Given the description of an element on the screen output the (x, y) to click on. 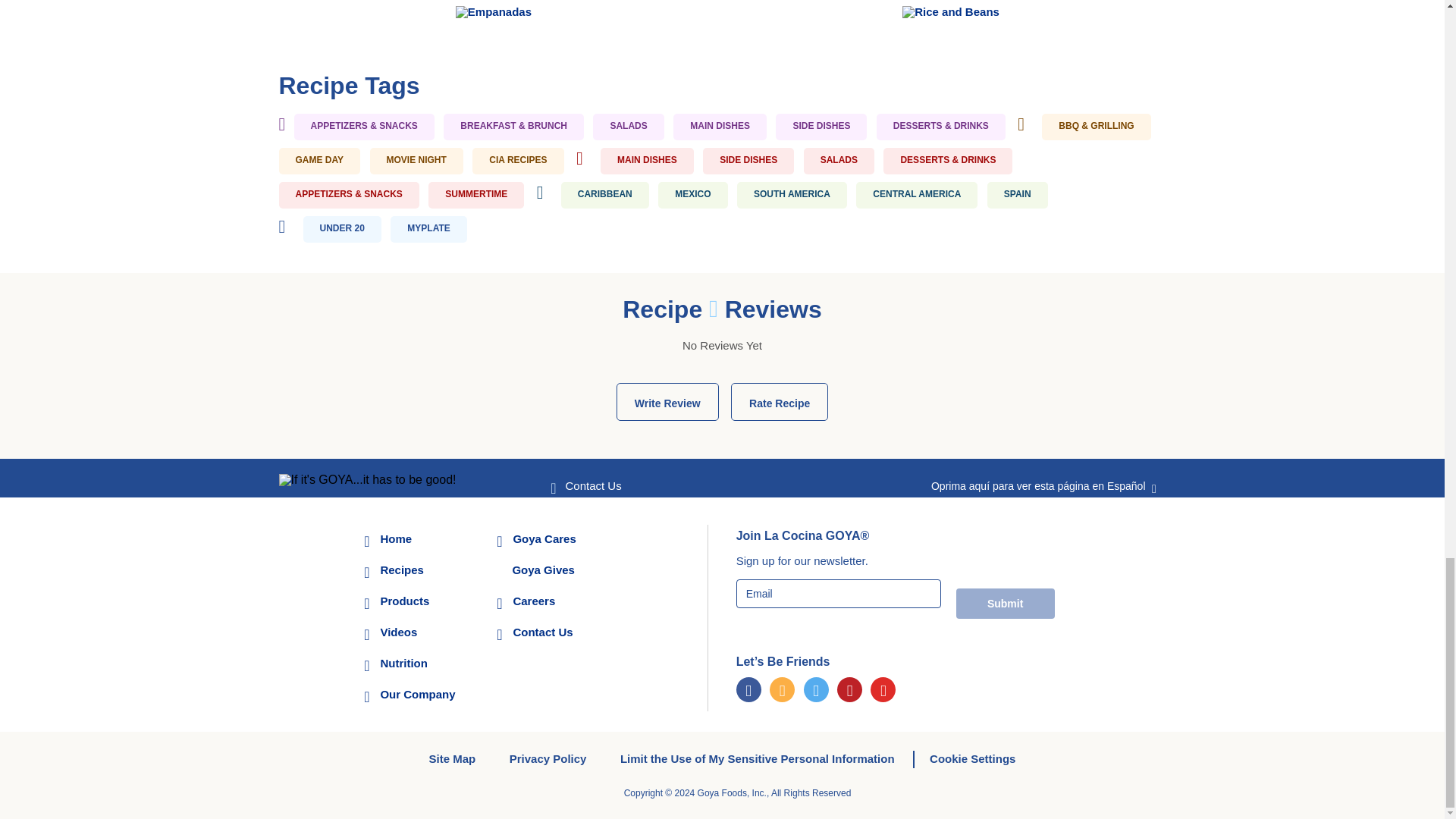
Rice and Beans (950, 11)
Empanadas (493, 11)
